Given the description of an element on the screen output the (x, y) to click on. 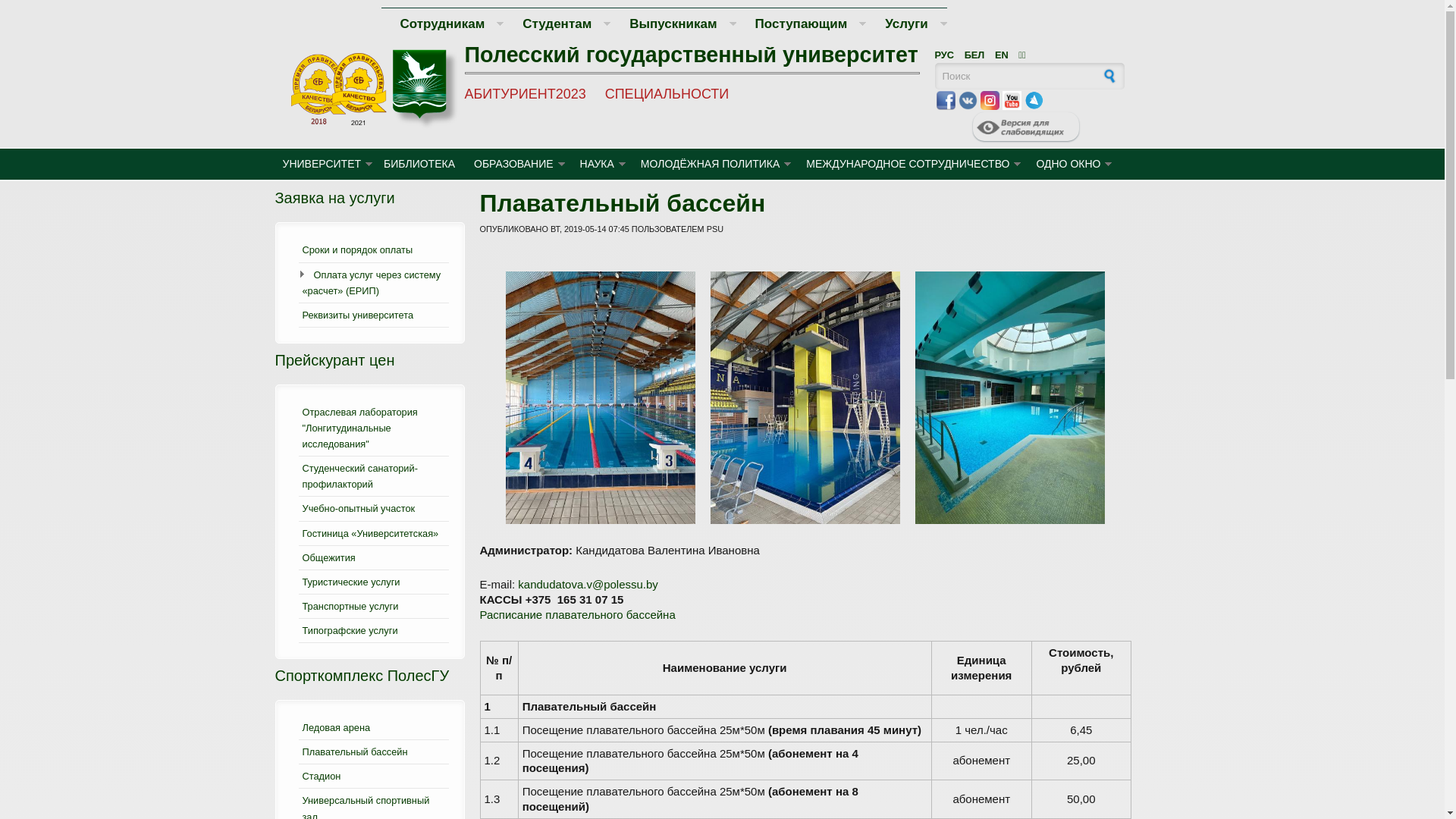
EN Element type: text (1001, 54)
kandudatova.v@polessu.by Element type: text (587, 583)
